Given the description of an element on the screen output the (x, y) to click on. 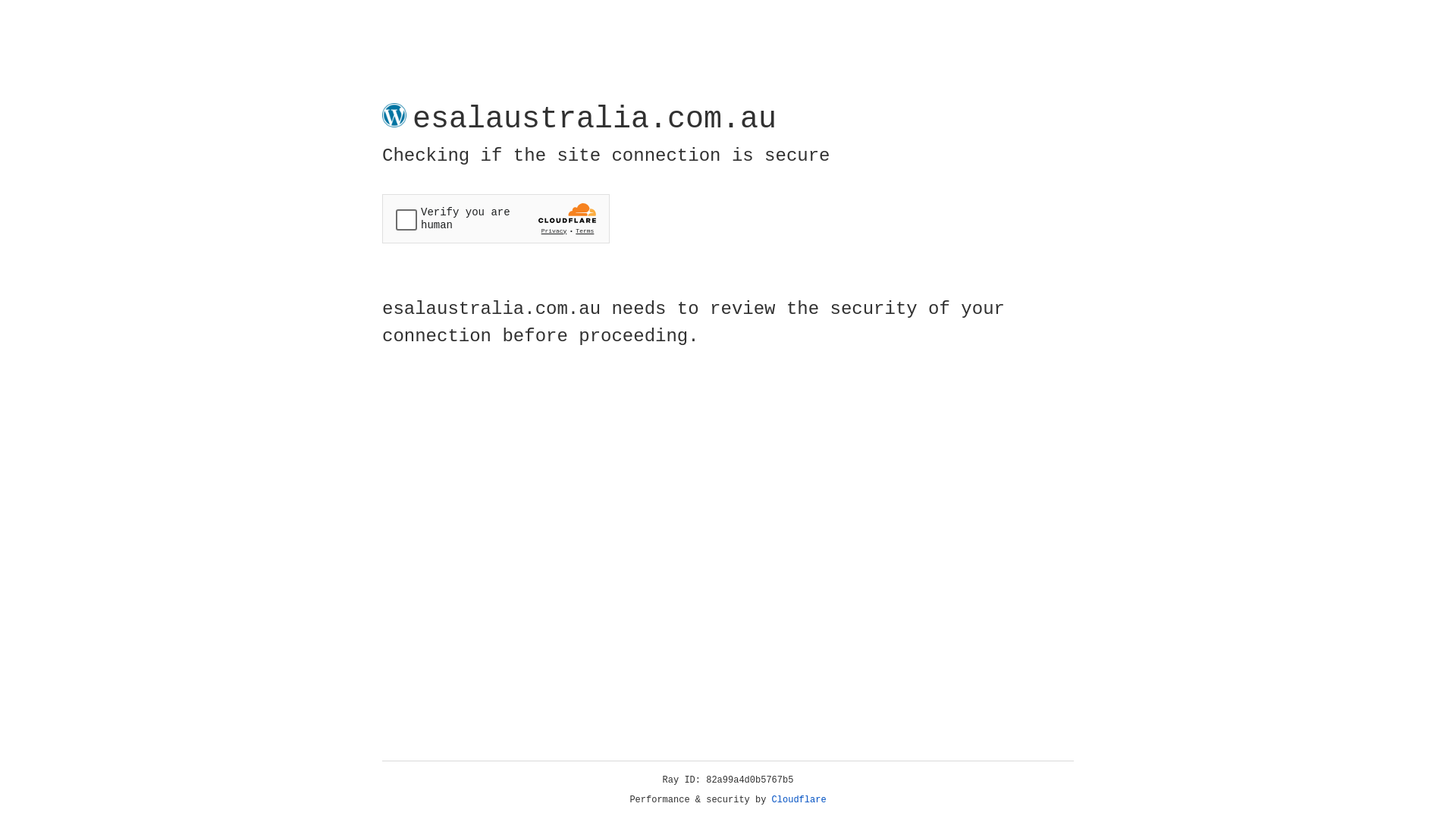
Widget containing a Cloudflare security challenge Element type: hover (495, 218)
Cloudflare Element type: text (798, 799)
